Given the description of an element on the screen output the (x, y) to click on. 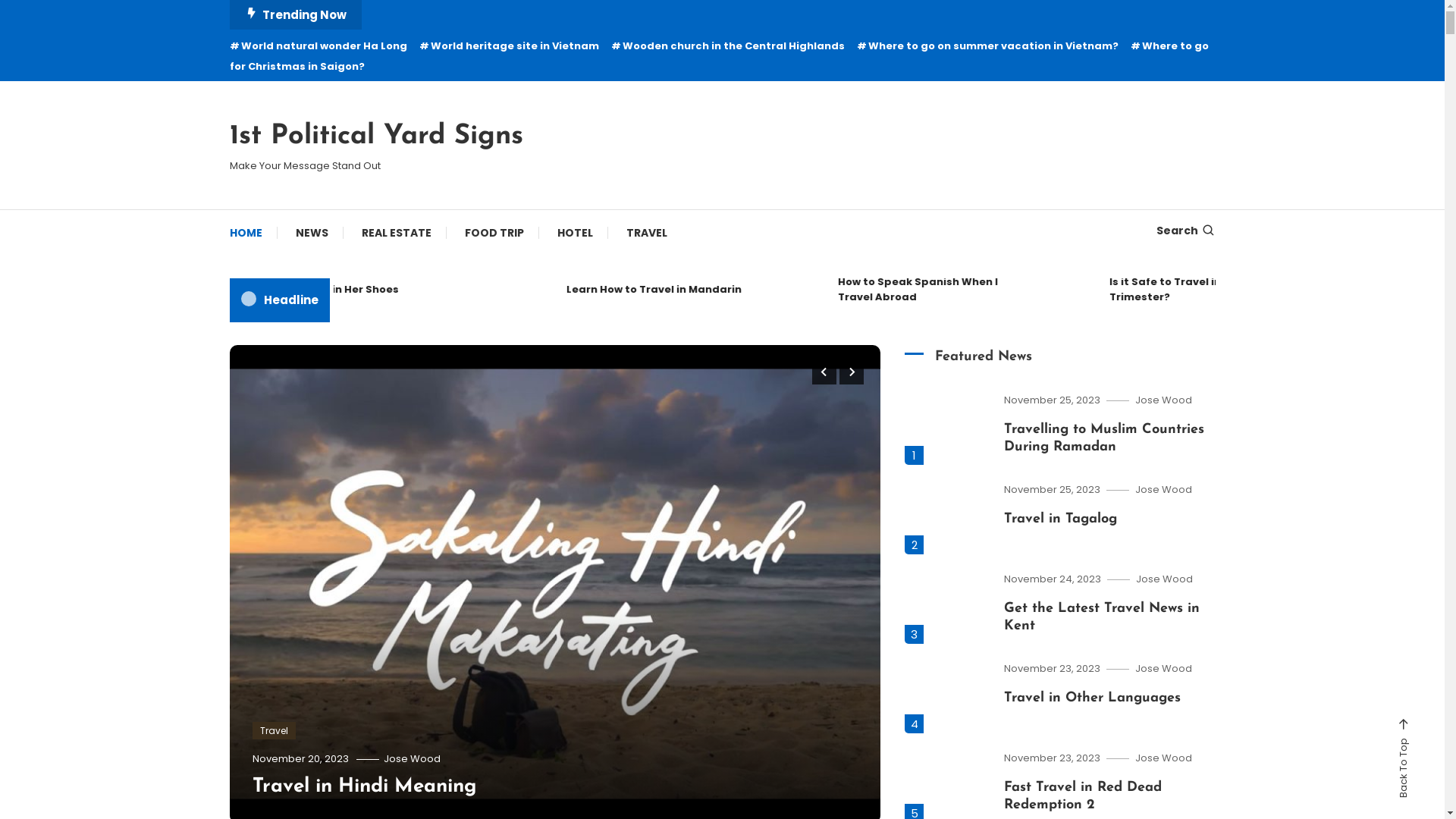
November 23, 2023 Element type: text (1052, 757)
Travel in Hindi Meaning Element type: text (363, 786)
Travel in Other Languages Element type: text (1092, 697)
Travelling to Muslim Countries During Ramadan Element type: text (1104, 438)
HOME Element type: text (252, 232)
Jose Wood Element type: text (1163, 399)
Travel Element type: text (272, 730)
Search Element type: text (1184, 230)
November 25, 2023 Element type: text (1052, 489)
Wooden church in the Central Highlands Element type: text (727, 45)
World natural wonder Ha Long Element type: text (317, 45)
1st Political Yard Signs Element type: text (375, 136)
Fast Travel in Red Dead Redemption 2 Element type: text (1001, 289)
NEWS Element type: text (311, 232)
Where to go on summer vacation in Vietnam? Element type: text (987, 45)
Jose Wood Element type: text (411, 758)
Where to go for Christmas in Saigon? Element type: text (718, 55)
Travel in Tagalog Element type: text (1060, 518)
November 20, 2023 Element type: text (299, 758)
HOTEL Element type: text (574, 232)
Search Element type: text (770, 434)
REAL ESTATE Element type: text (395, 232)
November 23, 2023 Element type: text (1052, 668)
World heritage site in Vietnam Element type: text (508, 45)
November 25, 2023 Element type: text (1052, 399)
Get the Latest Travel News in Kent Element type: text (459, 289)
Jose Wood Element type: text (1163, 757)
Fast Travel in Red Dead Redemption 2 Element type: text (1082, 796)
Travel in Other Languages Element type: text (730, 289)
Jose Wood Element type: text (1163, 489)
FOOD TRIP Element type: text (493, 232)
Jose Wood Element type: text (1163, 668)
November 24, 2023 Element type: text (1052, 578)
Jose Wood Element type: text (1163, 578)
Travel in Her Shoes Element type: text (1272, 289)
TRAVEL Element type: text (646, 232)
Get the Latest Travel News in Kent Element type: text (1101, 617)
